Given the description of an element on the screen output the (x, y) to click on. 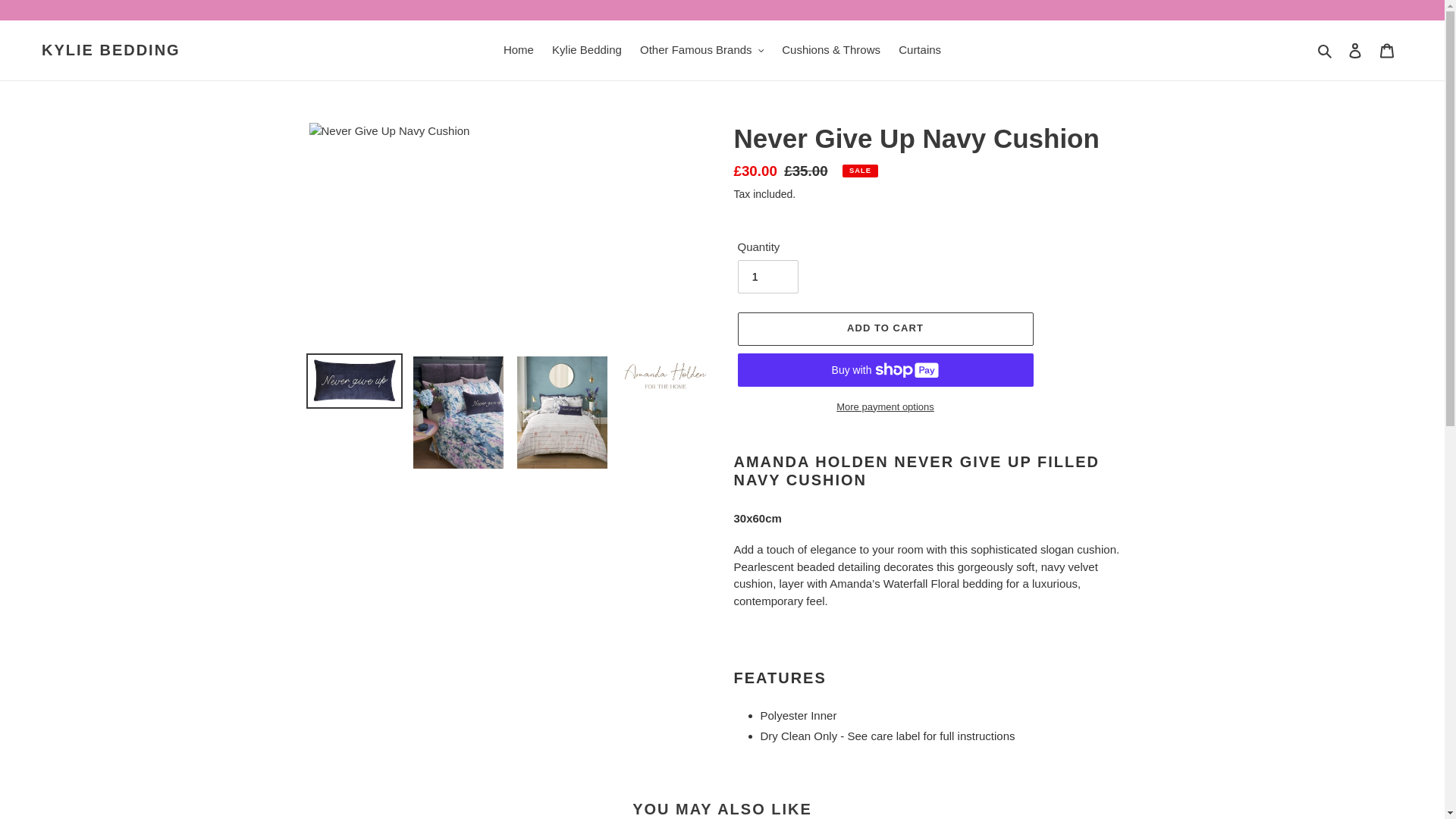
More payment options (884, 406)
Home (518, 50)
Other Famous Brands (701, 50)
KYLIE BEDDING (111, 49)
Log in (1355, 50)
Curtains (920, 50)
Cart (1387, 50)
ADD TO CART (884, 328)
Search (1326, 49)
1 (766, 276)
